Given the description of an element on the screen output the (x, y) to click on. 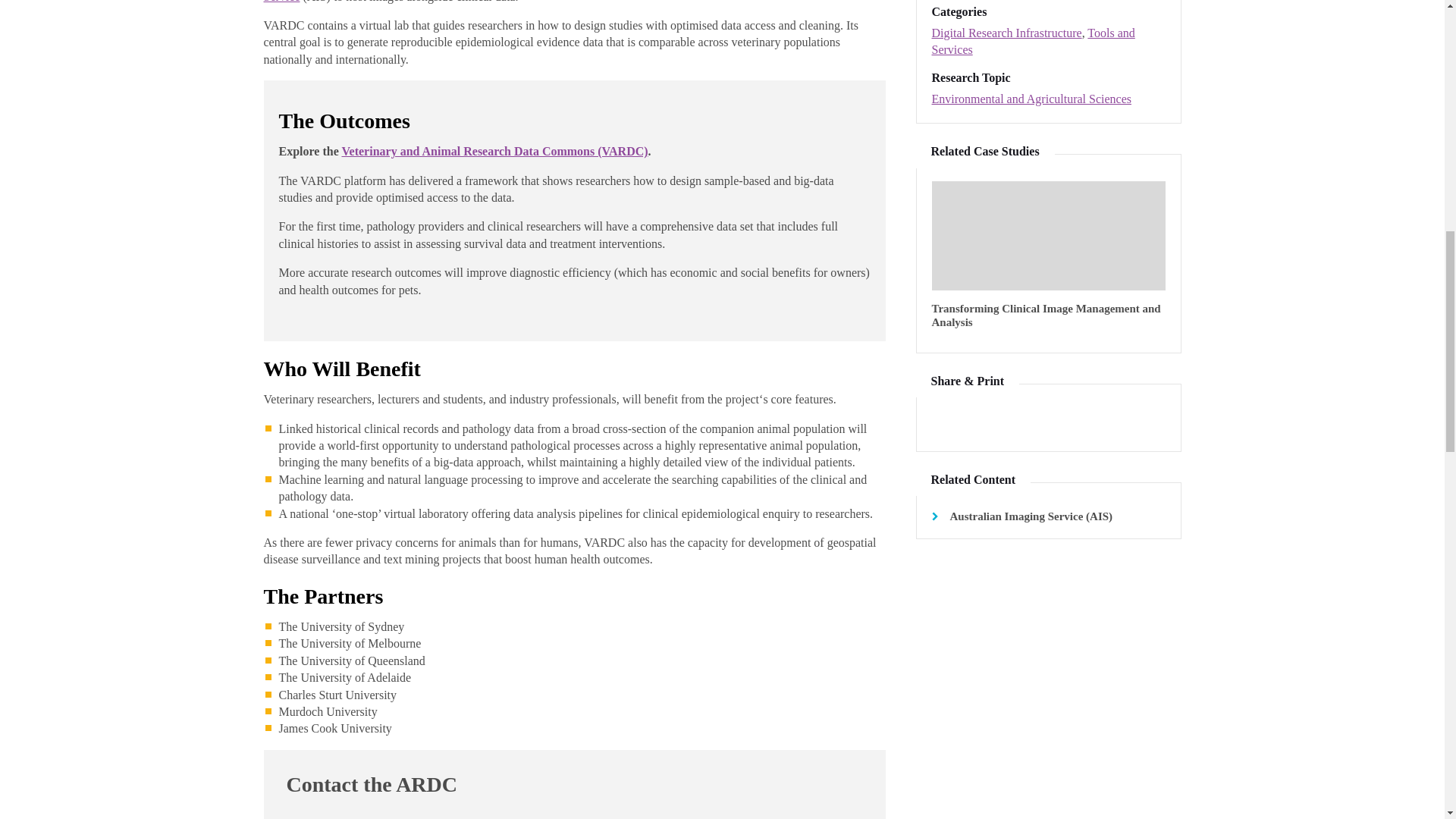
Share on Facebook (1026, 421)
Share via Email (1106, 421)
Print this Page (1066, 421)
Share on LinkedIn (986, 421)
Share on Twitter (945, 421)
